Given the description of an element on the screen output the (x, y) to click on. 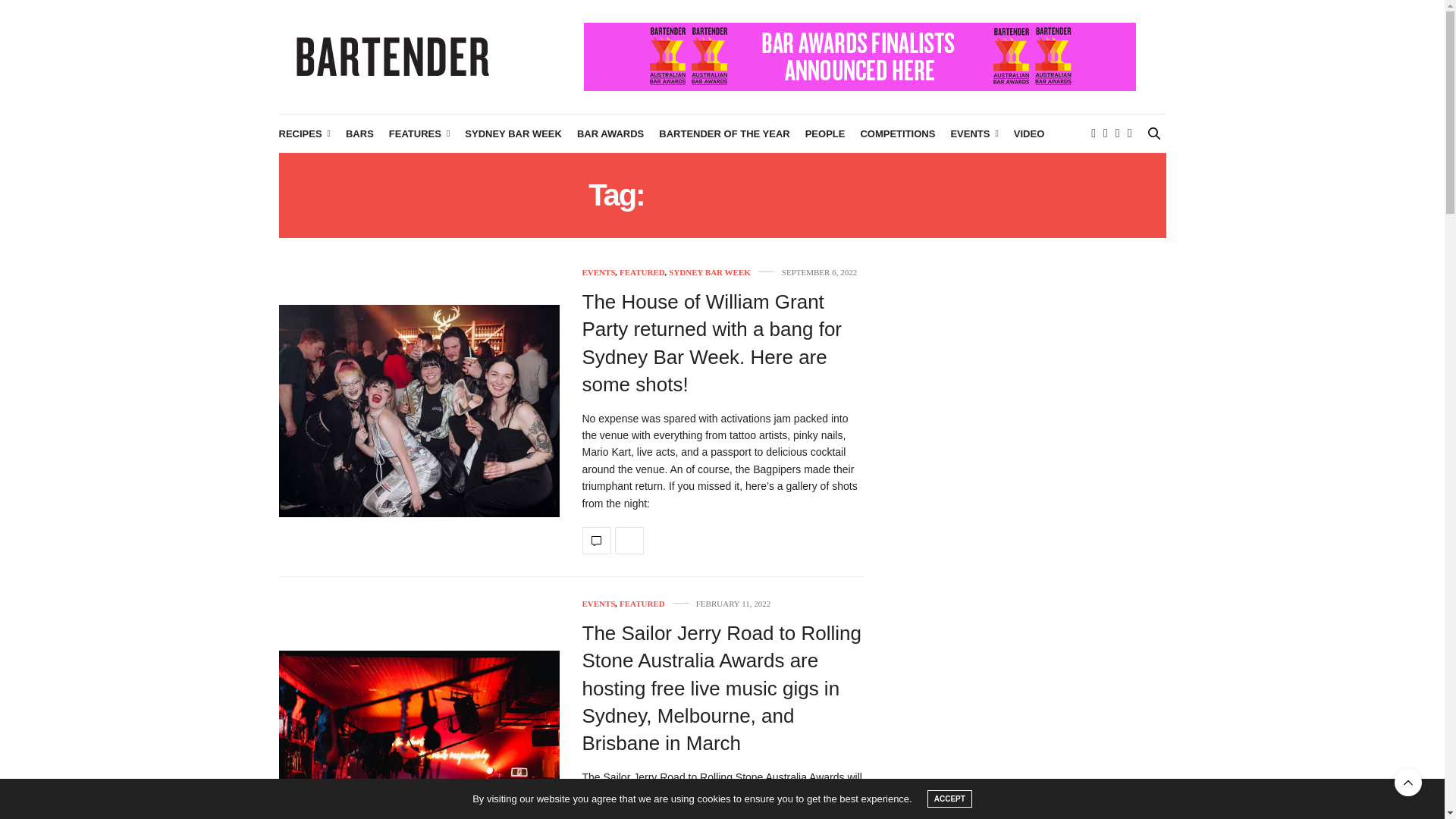
australianbartender.com.au (393, 56)
RECIPES (304, 133)
FEATURES (418, 133)
